Given the description of an element on the screen output the (x, y) to click on. 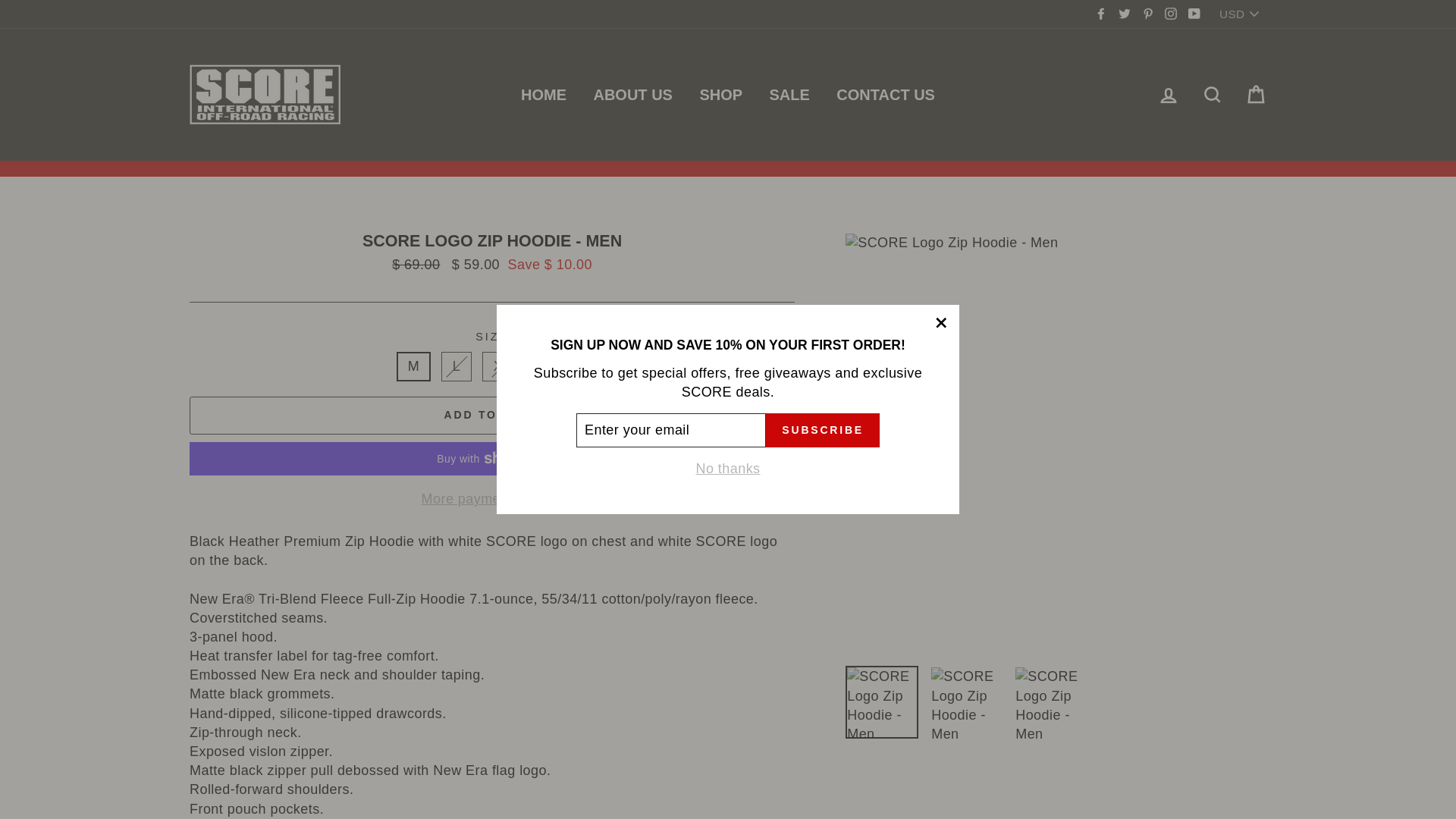
SCORE International Off Road Racing on Instagram (1170, 13)
SCORE International Off Road Racing on Facebook (1100, 13)
SCORE International Off Road Racing on Pinterest (1147, 13)
SCORE International Off Road Racing on YouTube (1194, 13)
SCORE International Off Road Racing on Twitter (1124, 13)
